Given the description of an element on the screen output the (x, y) to click on. 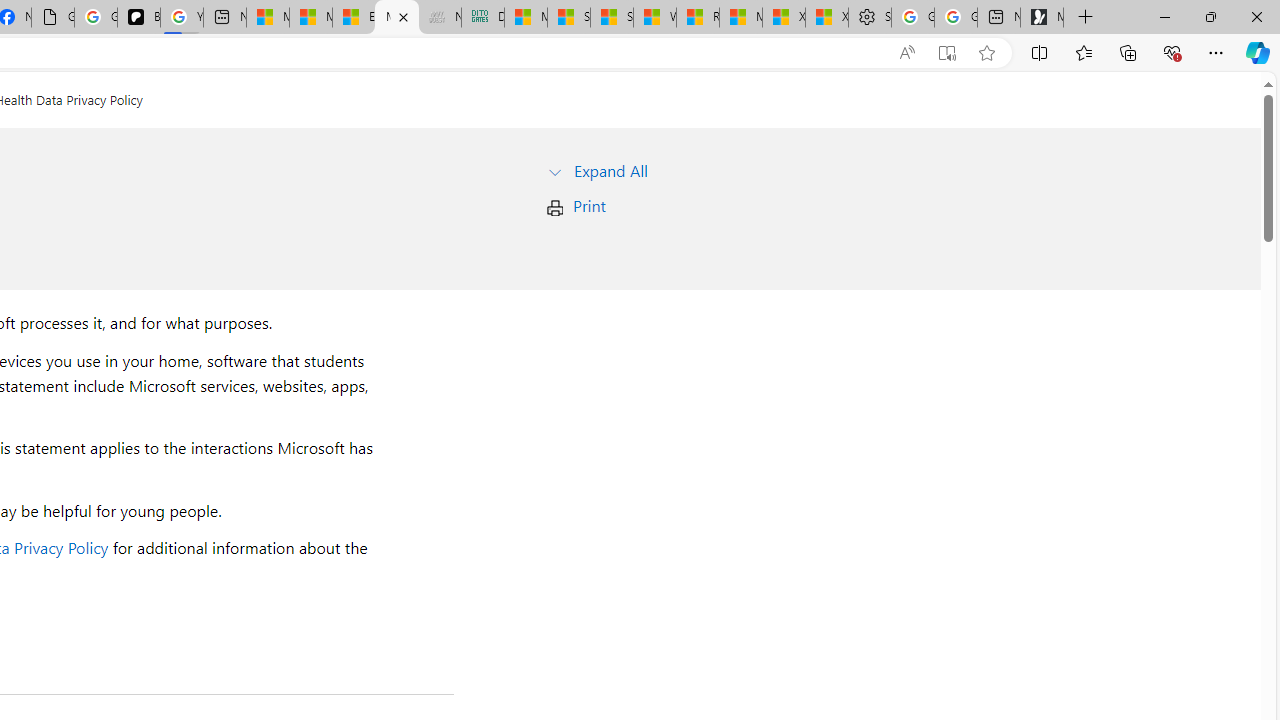
Expand All (610, 170)
Print (589, 205)
